Given the description of an element on the screen output the (x, y) to click on. 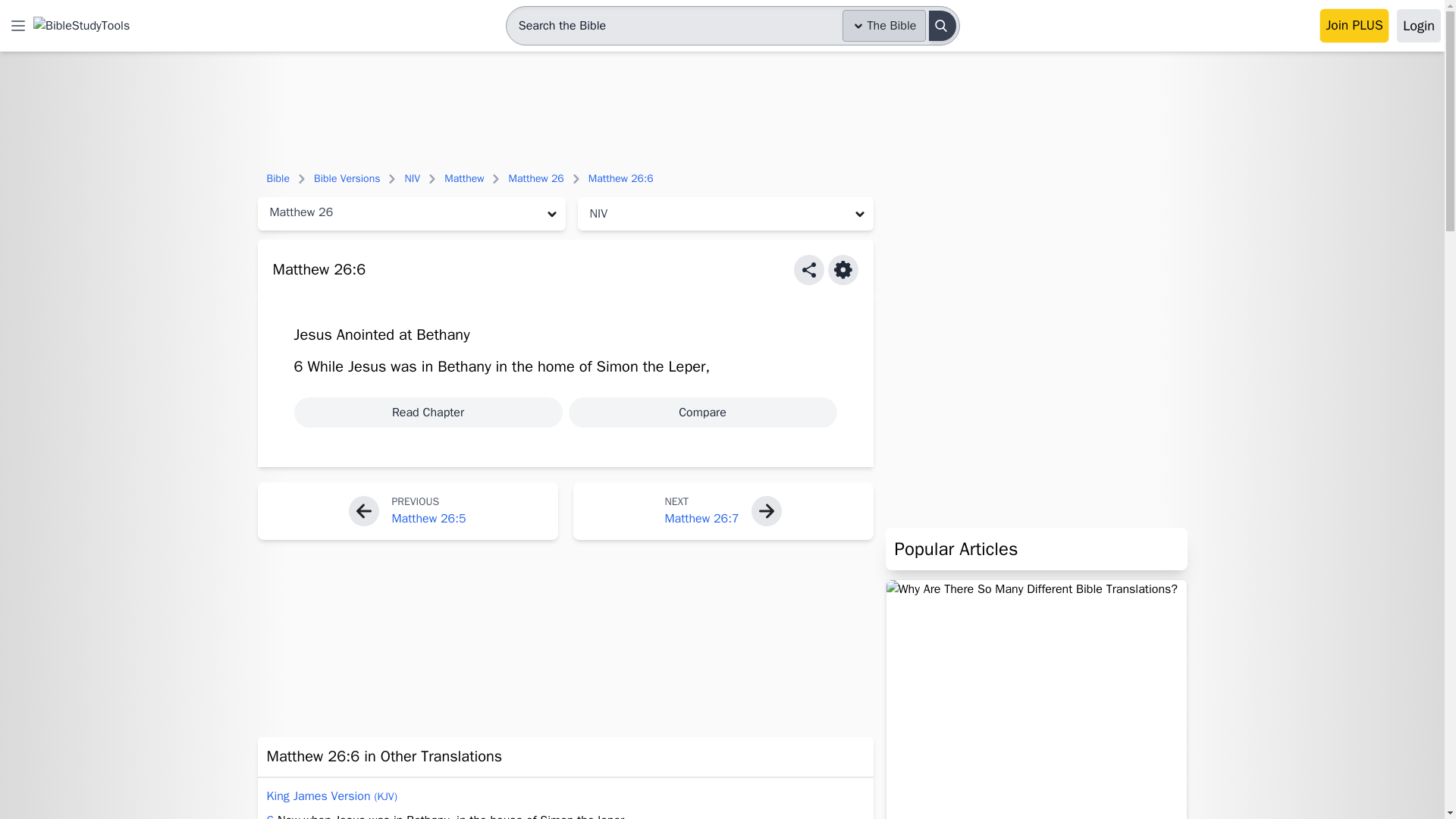
Scripture Settings (843, 269)
The Bible (884, 25)
Login (1418, 25)
Join PLUS (1355, 26)
